Given the description of an element on the screen output the (x, y) to click on. 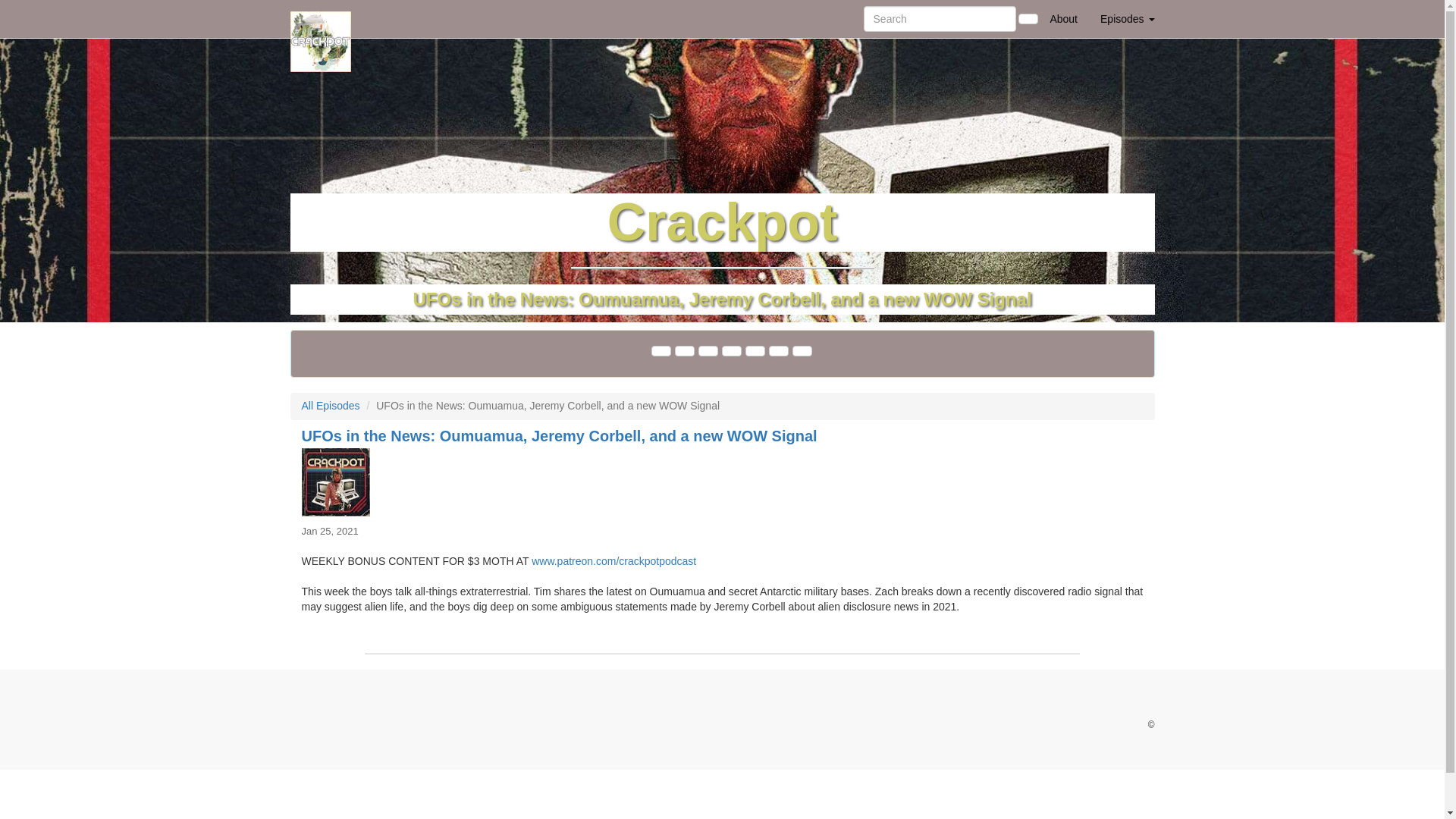
Episodes (1127, 18)
About (1063, 18)
Home Page (320, 18)
